Given the description of an element on the screen output the (x, y) to click on. 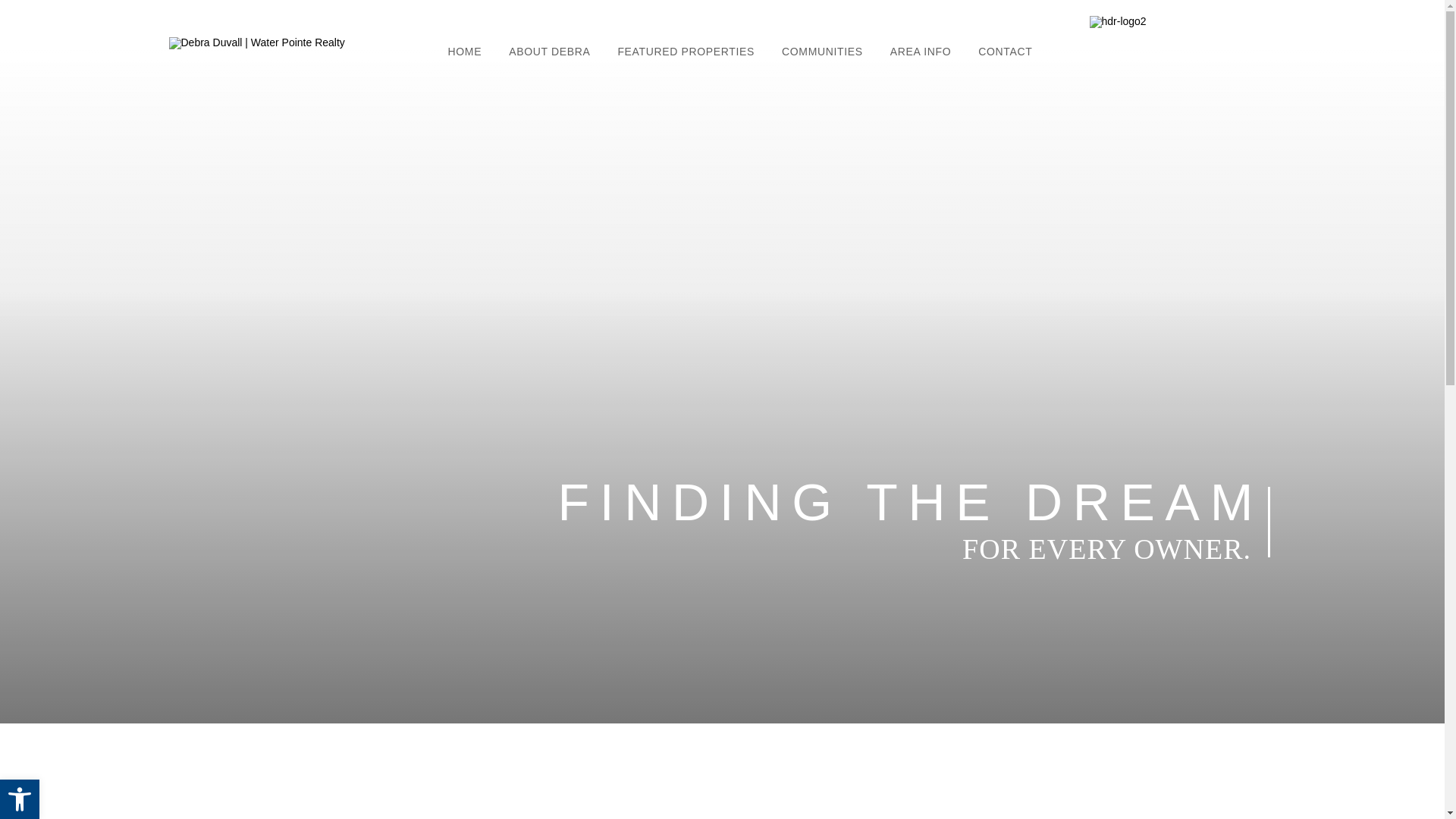
HOME (464, 55)
Search (1142, 633)
AREA INFO (920, 55)
FEATURED PROPERTIES (685, 55)
ABOUT DEBRA (549, 55)
COMMUNITIES (821, 55)
Accessibility Tools (19, 799)
Accessibility Tools (19, 799)
CONTACT (1004, 55)
